Given the description of an element on the screen output the (x, y) to click on. 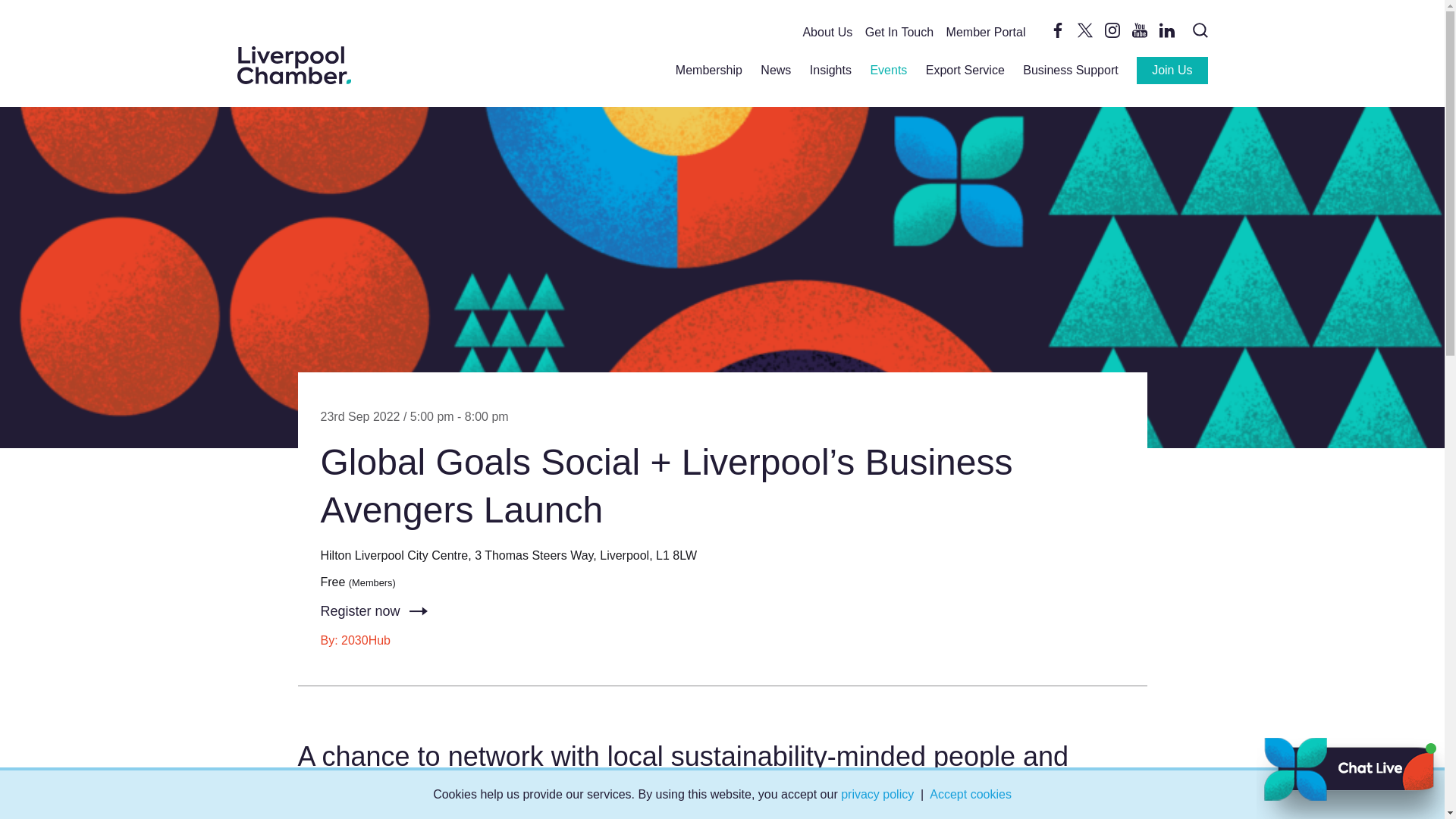
Business Support (1070, 70)
Member Portal (986, 31)
Membership (708, 70)
Go to Liverpool Chamber of Commerce homepage (292, 64)
Insights (830, 70)
Join Us (1172, 70)
About Us (826, 31)
Get In Touch (898, 31)
Export Service (965, 70)
Events (888, 70)
News (775, 70)
